Given the description of an element on the screen output the (x, y) to click on. 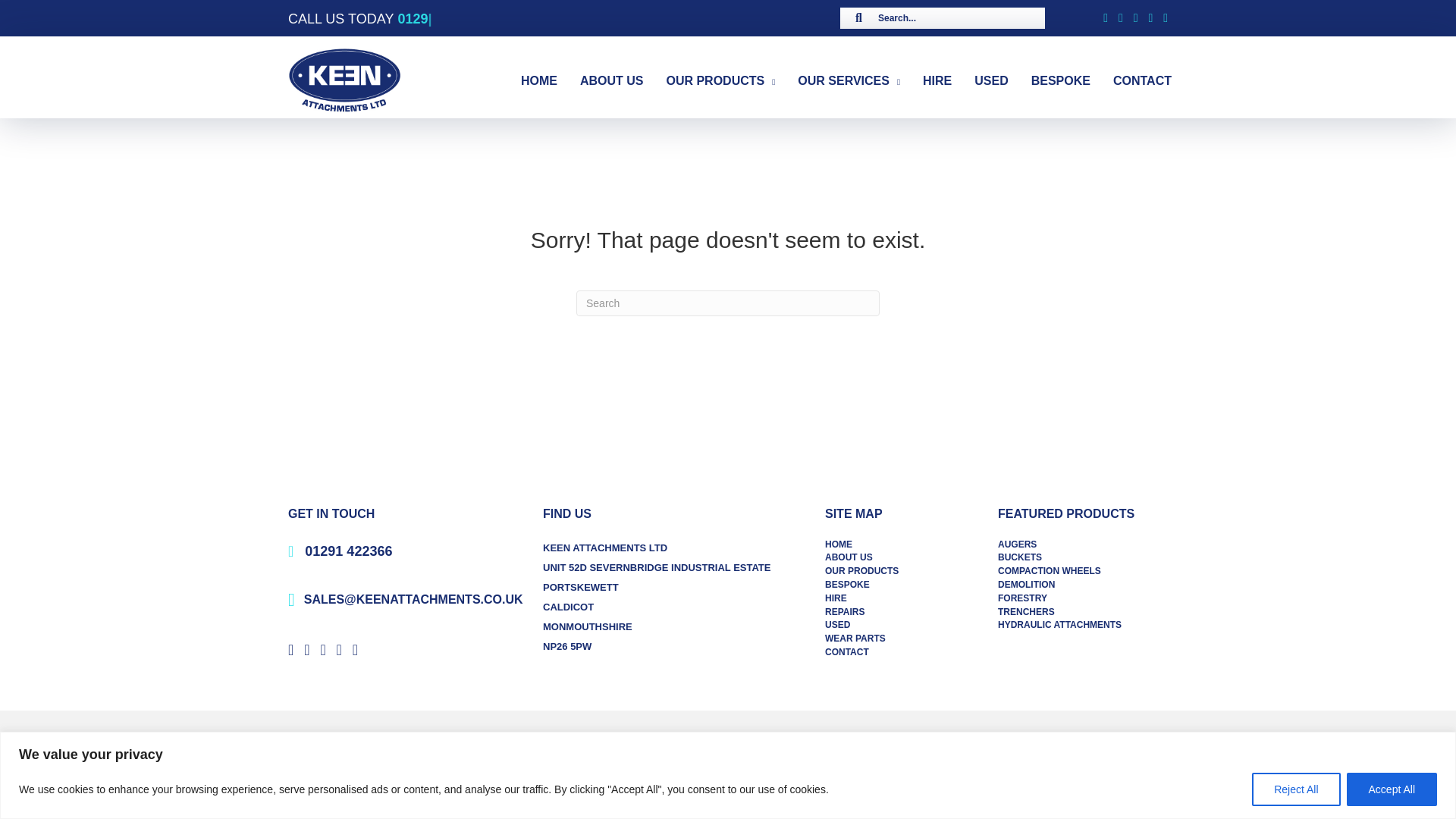
OUR PRODUCTS (720, 81)
Type and press Enter to search. (727, 303)
HOME (538, 81)
ABOUT US (611, 81)
